Given the description of an element on the screen output the (x, y) to click on. 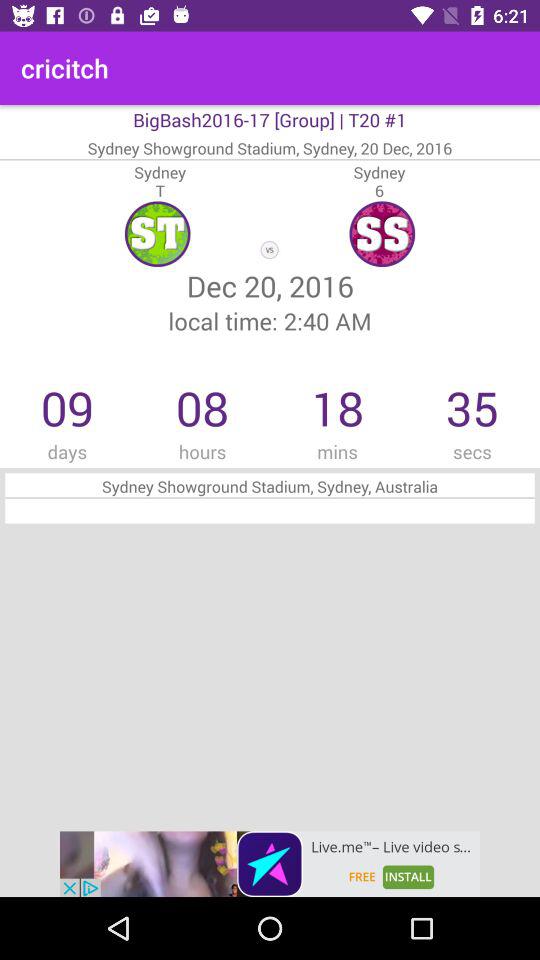
click on text left to ss (157, 233)
